Given the description of an element on the screen output the (x, y) to click on. 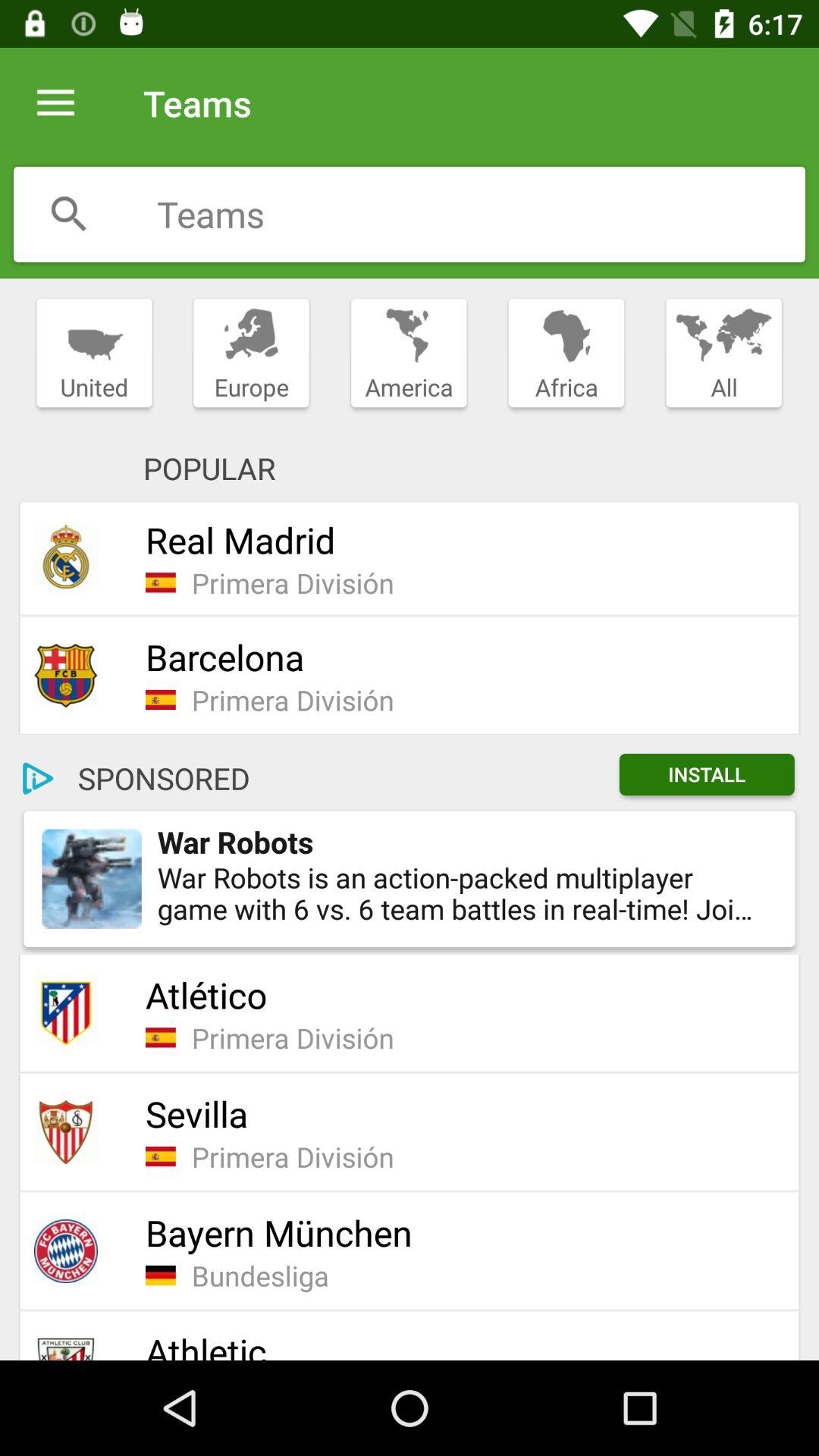
choose item next to america item (565, 353)
